Given the description of an element on the screen output the (x, y) to click on. 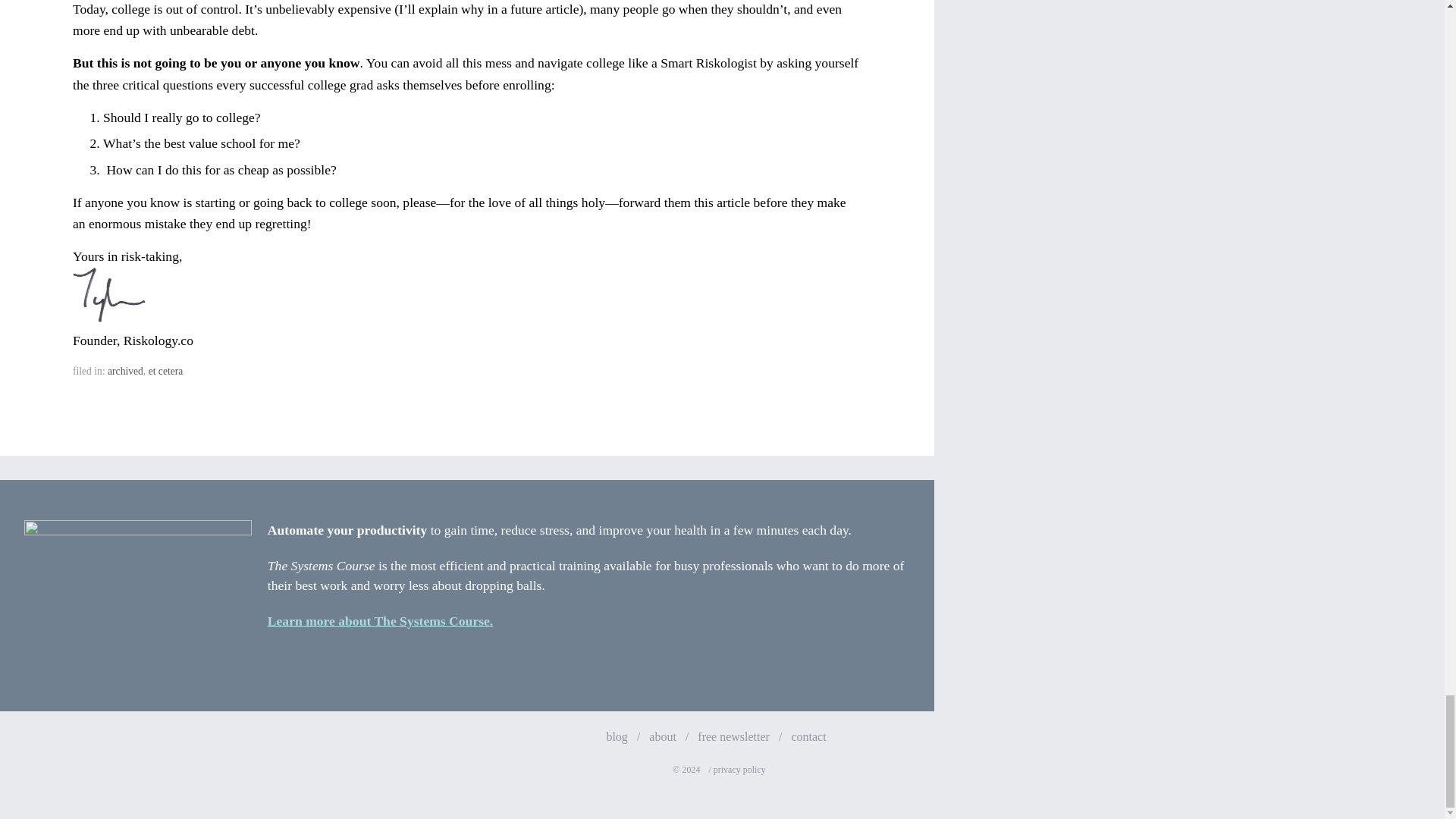
about (663, 736)
contact (807, 736)
et cetera (165, 370)
blog (616, 736)
free newsletter (733, 736)
Learn more about The Systems Course. (380, 620)
archived (124, 370)
privacy policy (739, 769)
